Given the description of an element on the screen output the (x, y) to click on. 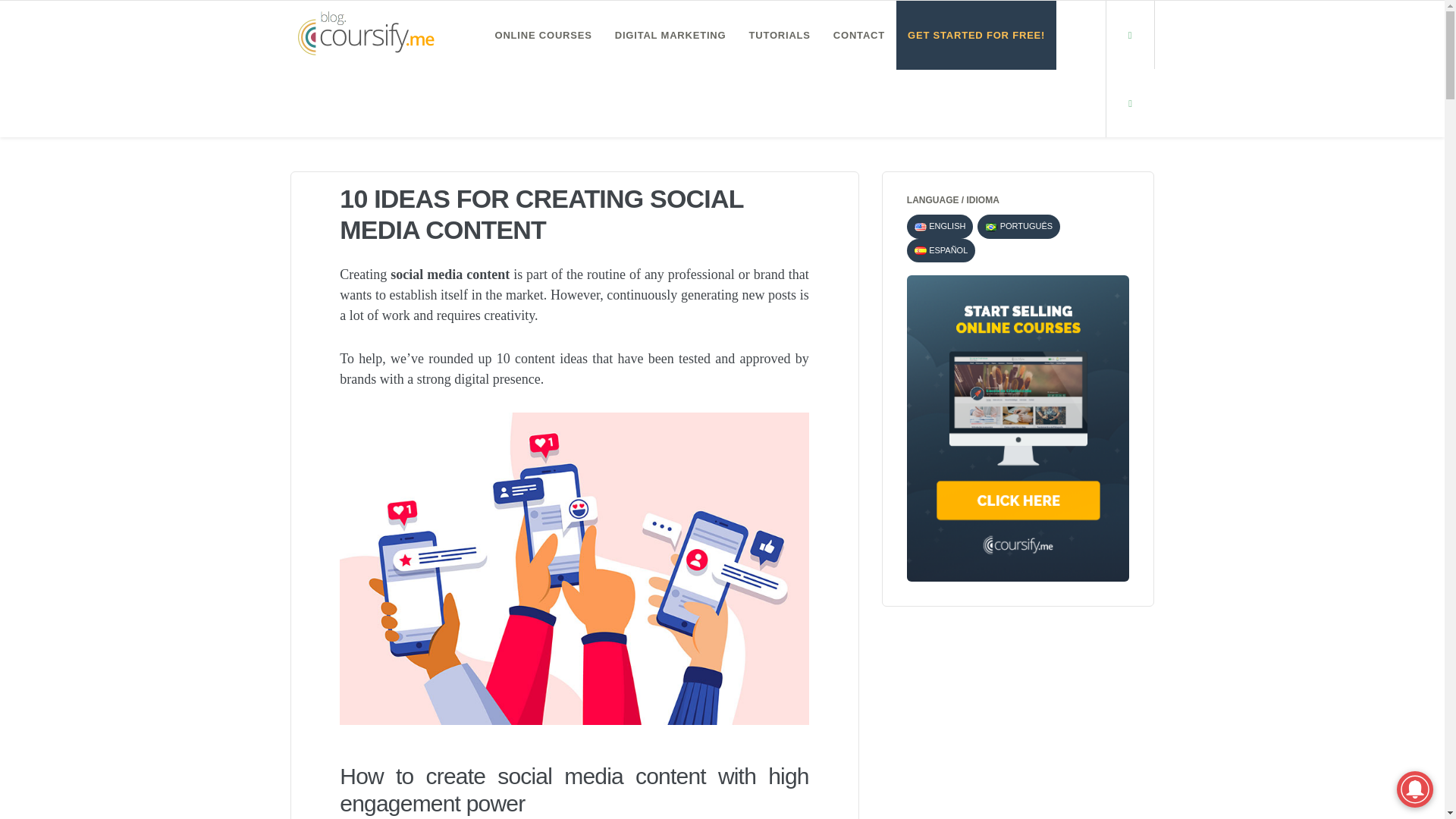
ENGLISH (940, 226)
GET STARTED FOR FREE! (976, 34)
CONTACT (859, 34)
English (920, 226)
TUTORIALS (778, 34)
ONLINE COURSES (543, 34)
DIGITAL MARKETING (671, 34)
